Given the description of an element on the screen output the (x, y) to click on. 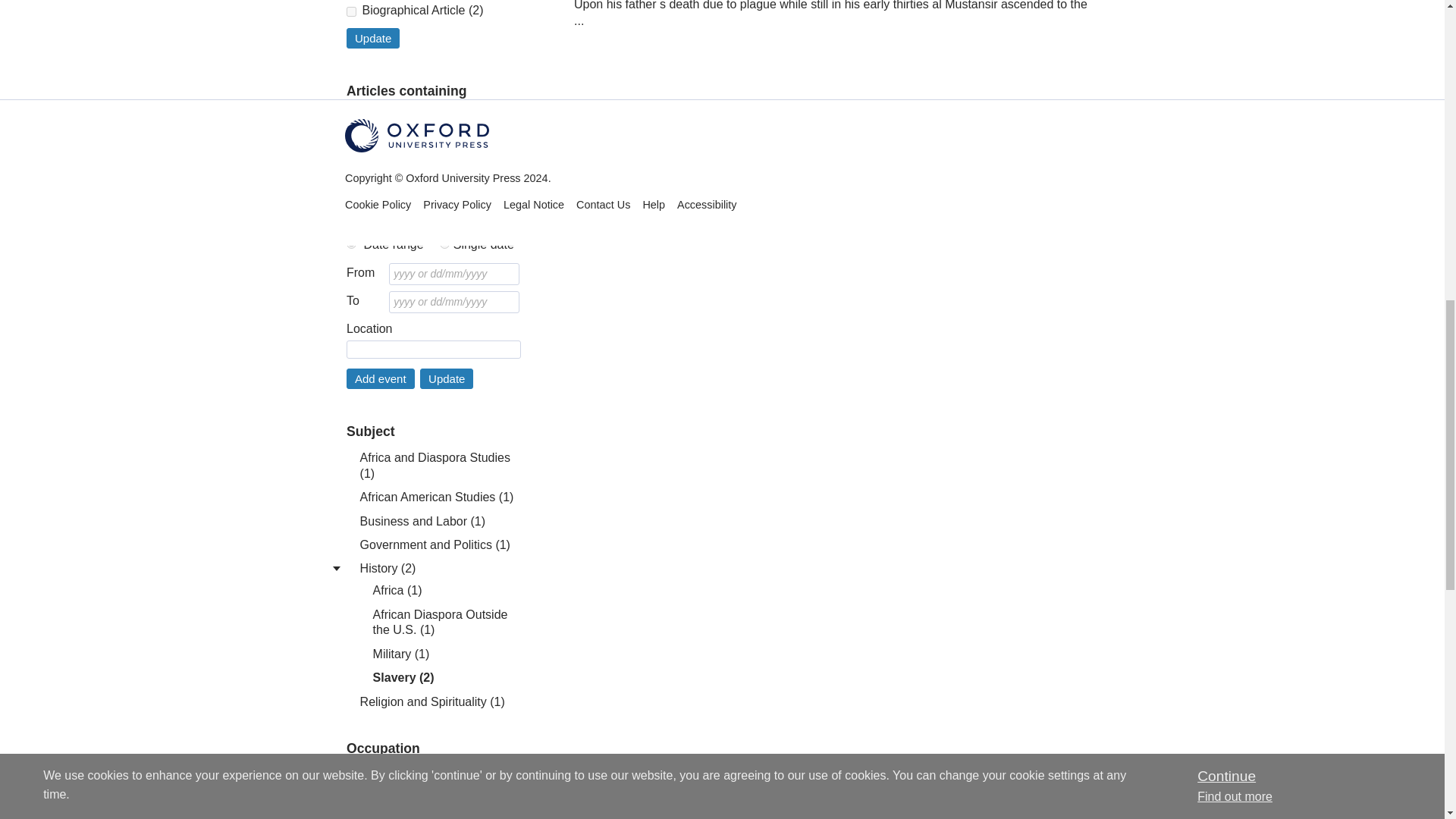
Biographical Article (351, 11)
firstDate (351, 243)
exactDate (444, 243)
